Given the description of an element on the screen output the (x, y) to click on. 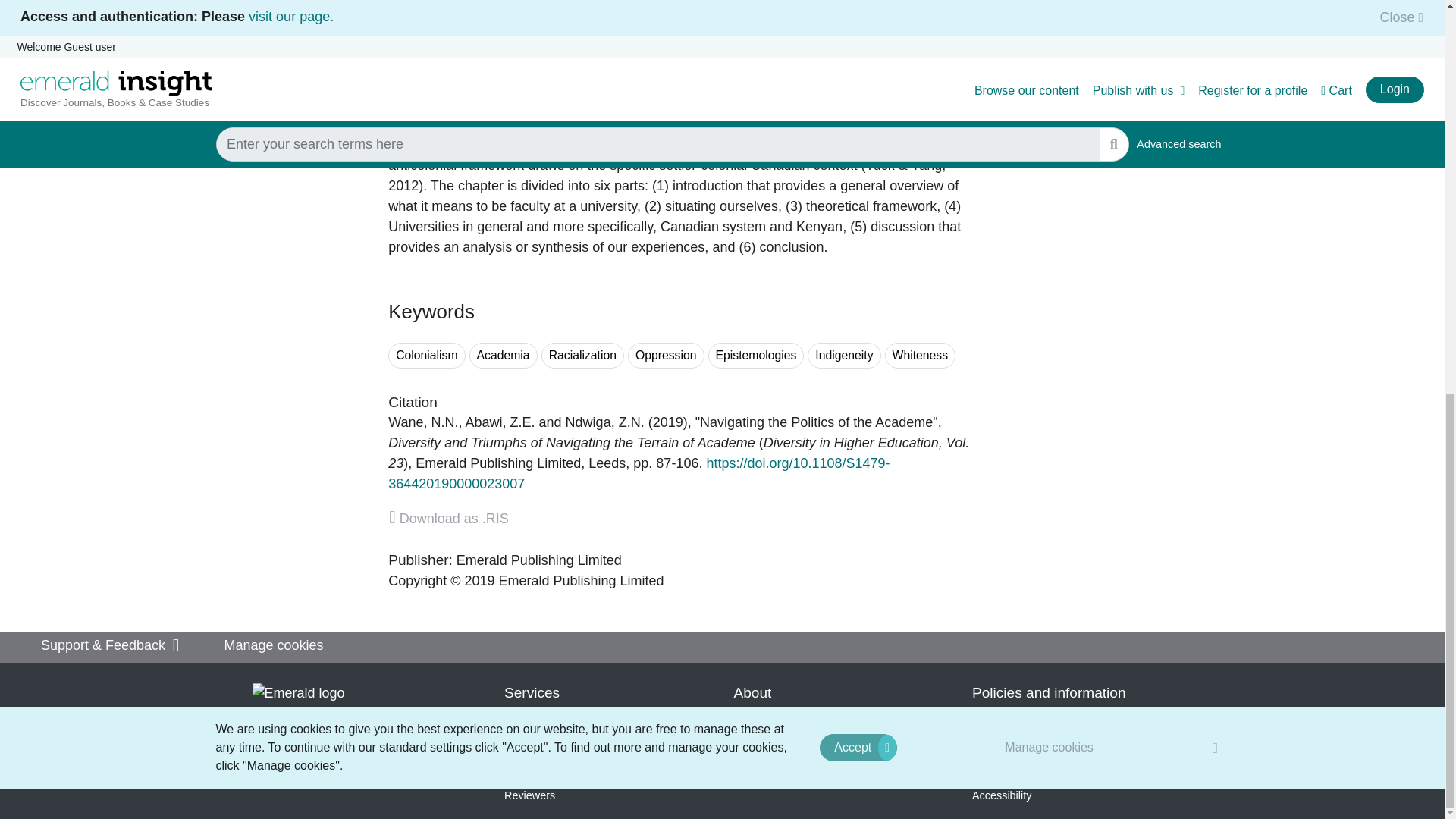
Search for keyword Academia (502, 356)
Search for keyword Oppression (665, 356)
Search for keyword Epistemologies (756, 356)
Search for keyword Colonialism (426, 356)
Zachary Njagi Ndwiga (605, 421)
Accept (857, 2)
Search for keyword Whiteness (920, 356)
Njoki Nathani Wane (423, 421)
Search for keyword Indigeneity (844, 356)
Zuhra E. Abawi (500, 421)
